Given the description of an element on the screen output the (x, y) to click on. 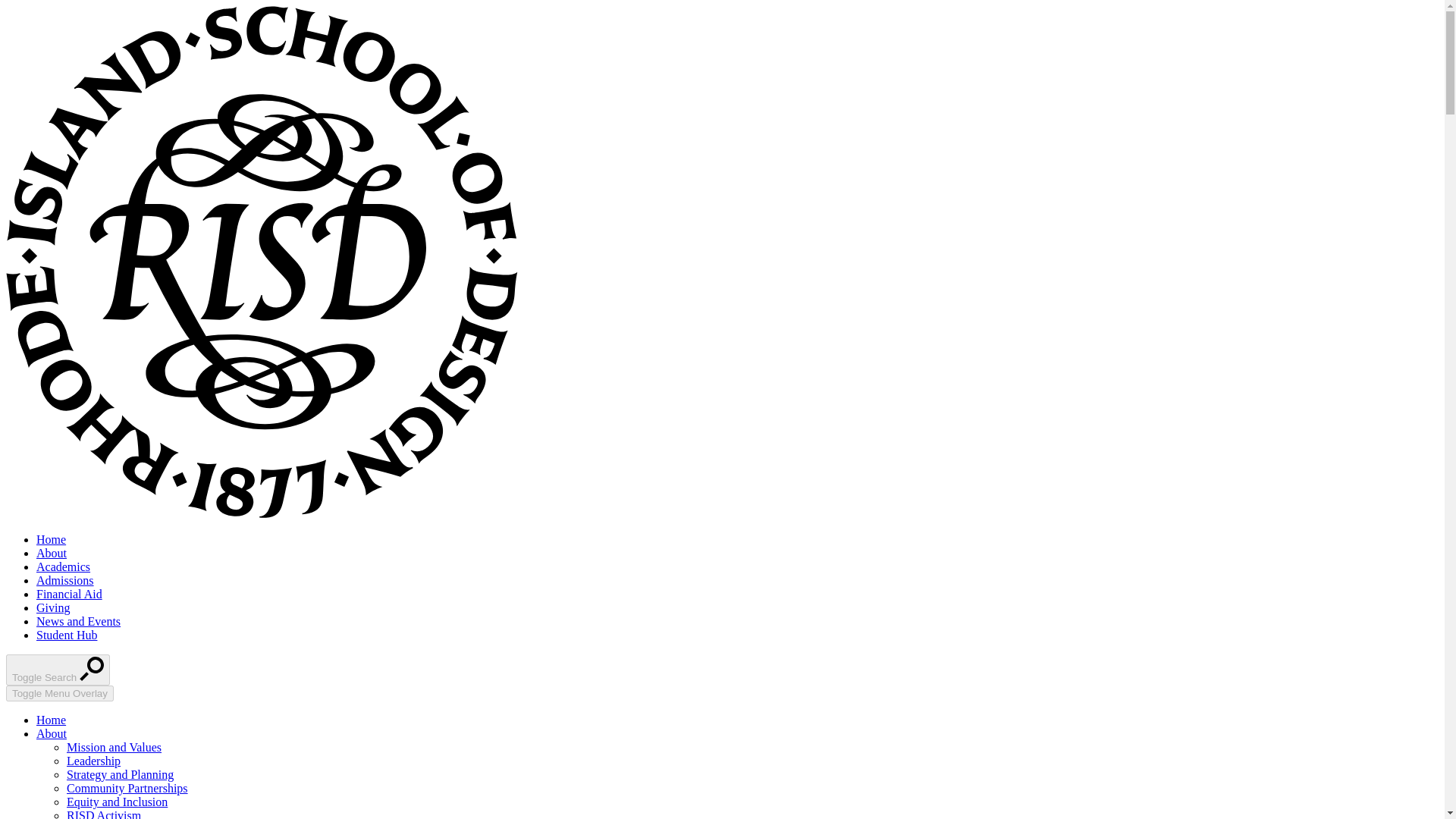
Student Hub (66, 634)
Financial Aid (68, 594)
About (51, 553)
About (51, 733)
Giving (52, 607)
Strategy and Planning (119, 774)
Admissions (65, 580)
Toggle Search (57, 669)
News and Events (78, 621)
